Given the description of an element on the screen output the (x, y) to click on. 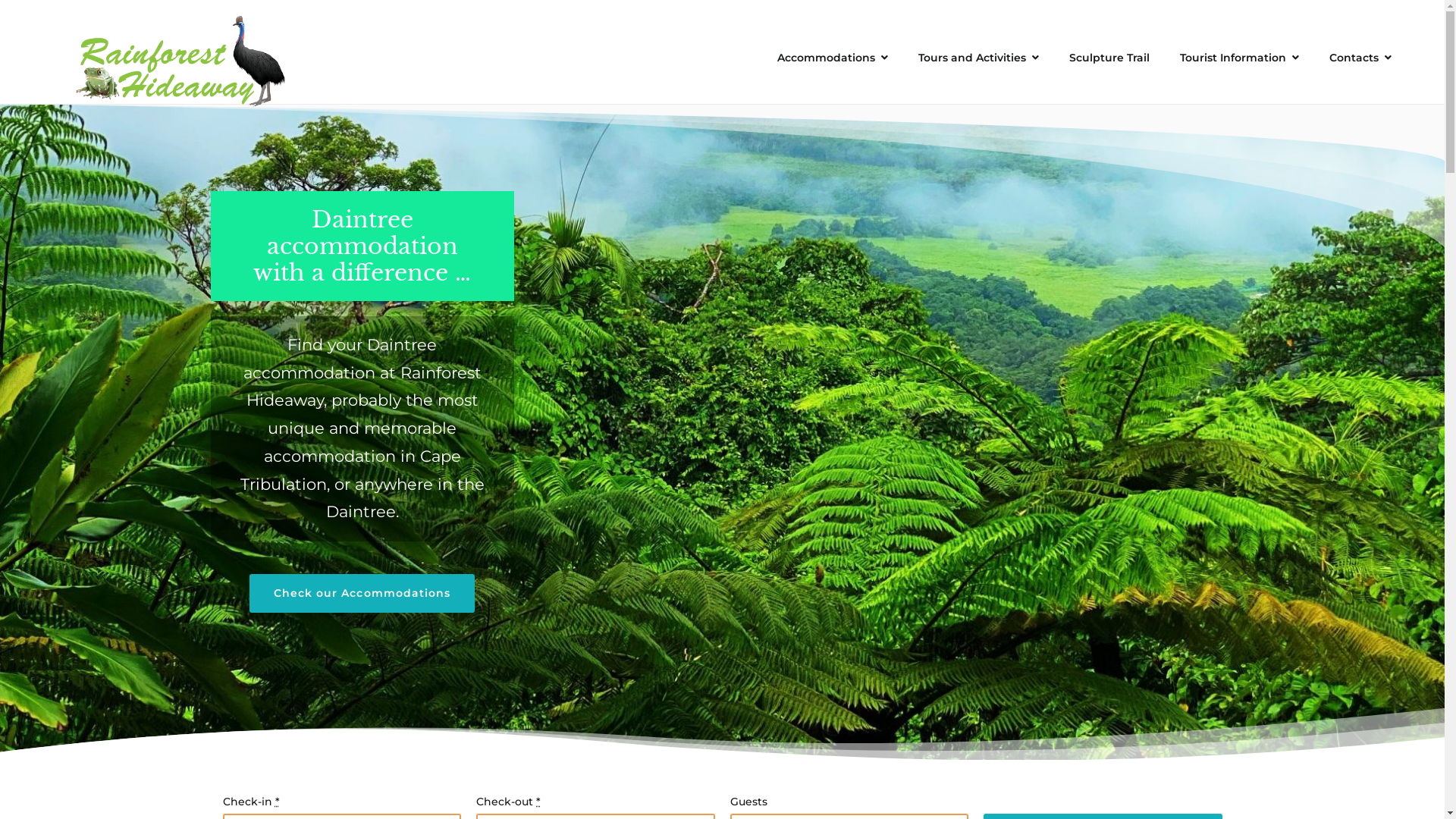
Rainforest Hideaway Element type: text (110, 57)
Accommodations Element type: text (832, 57)
Contacts Element type: text (1360, 57)
Tourist Information Element type: text (1239, 57)
Check our Accommodations Element type: text (361, 593)
Sculpture Trail Element type: text (1109, 57)
Tours and Activities Element type: text (978, 57)
